Given the description of an element on the screen output the (x, y) to click on. 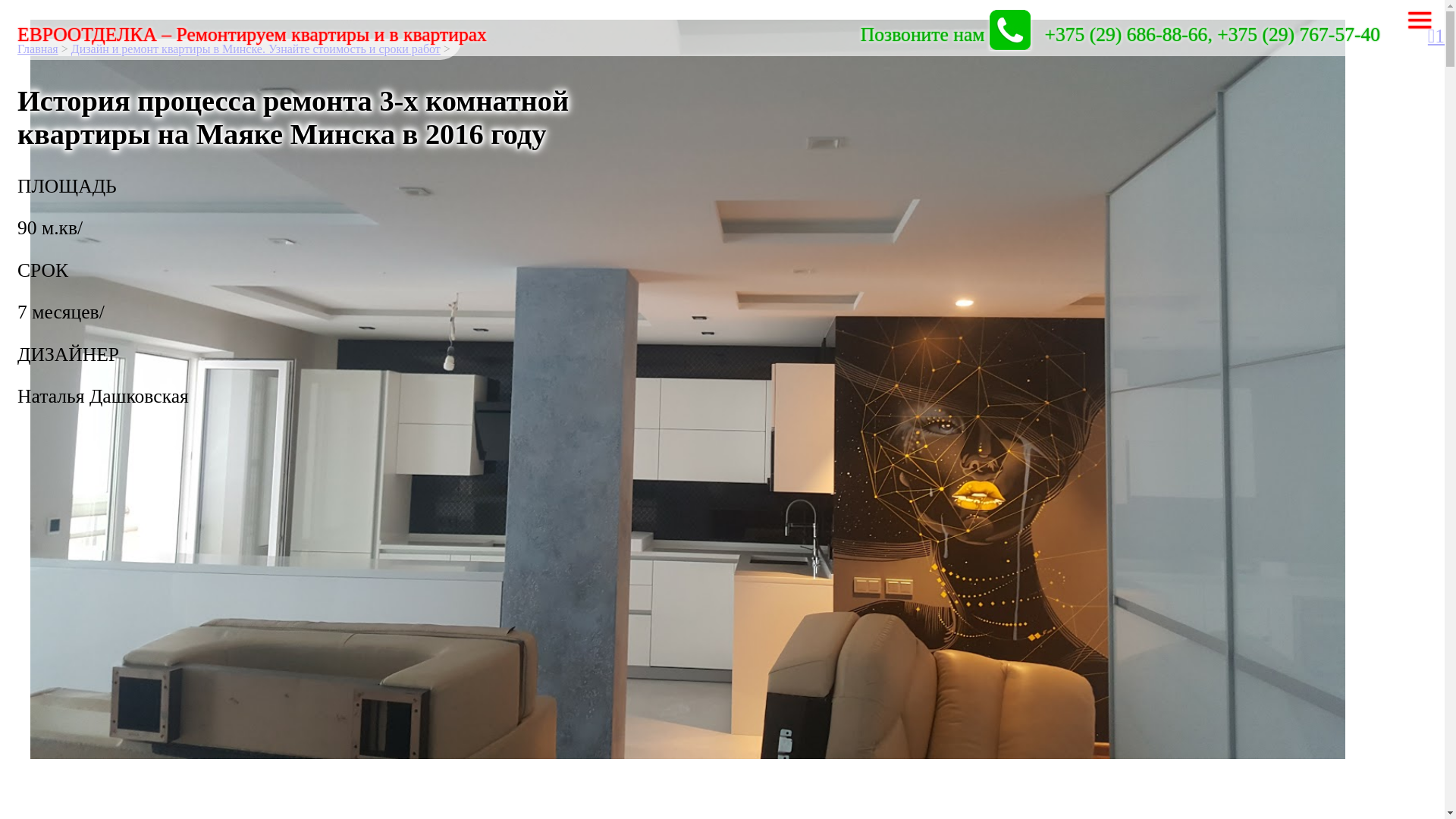
+375 (29) 686-88-66 Element type: text (1126, 34)
+375 (29) 767-57-40 Element type: text (1298, 34)
